Given the description of an element on the screen output the (x, y) to click on. 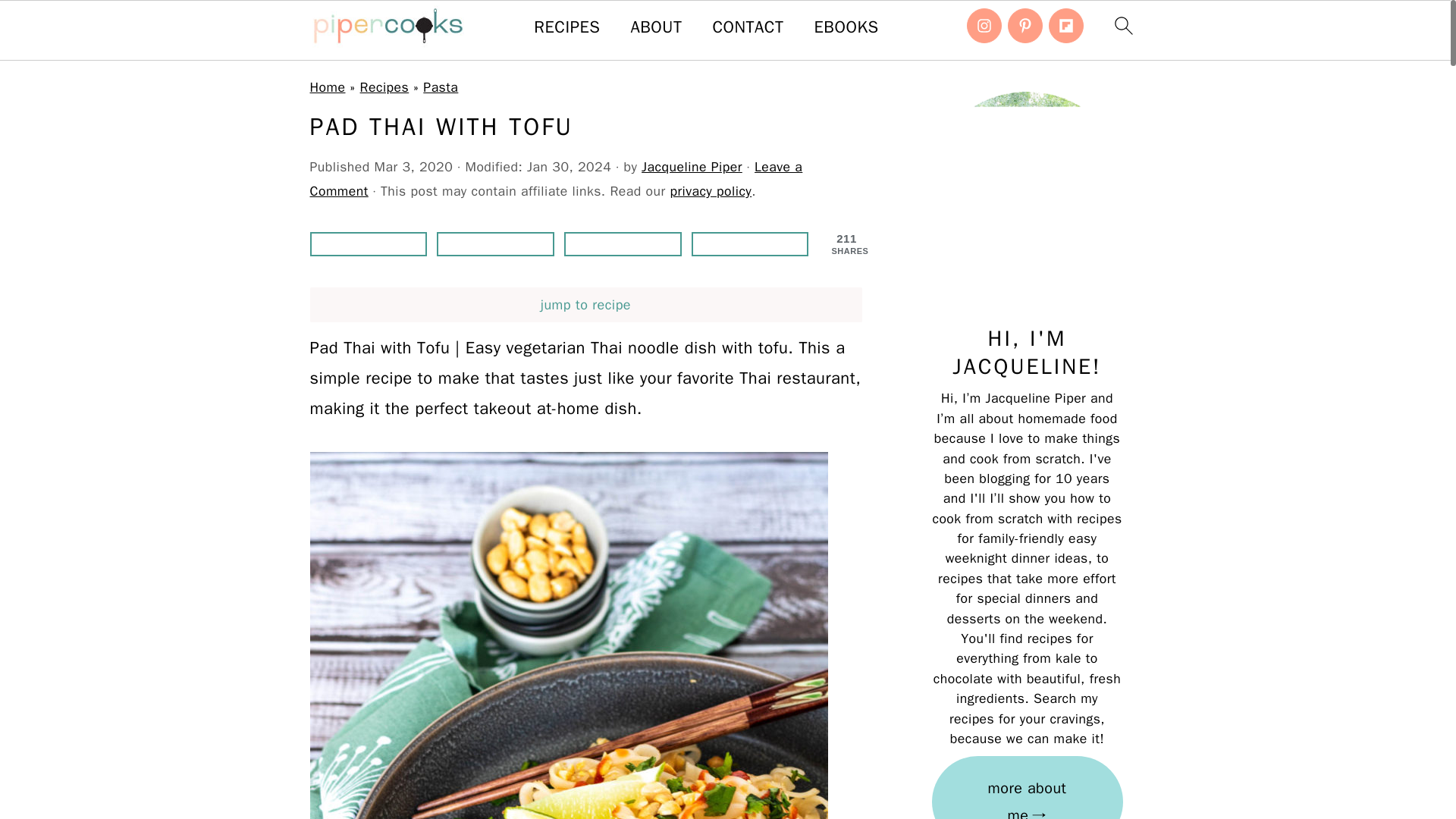
Share on Facebook (622, 243)
Share on Yummly (750, 243)
search icon (1122, 25)
Home (326, 86)
CONTACT (747, 26)
EBOOKS (845, 26)
Save to Pinterest (367, 243)
Share on Flipboard (495, 243)
RECIPES (566, 26)
privacy policy (710, 190)
Pasta (440, 86)
ABOUT (655, 26)
Jacqueline Piper (692, 166)
Recipes (384, 86)
